Given the description of an element on the screen output the (x, y) to click on. 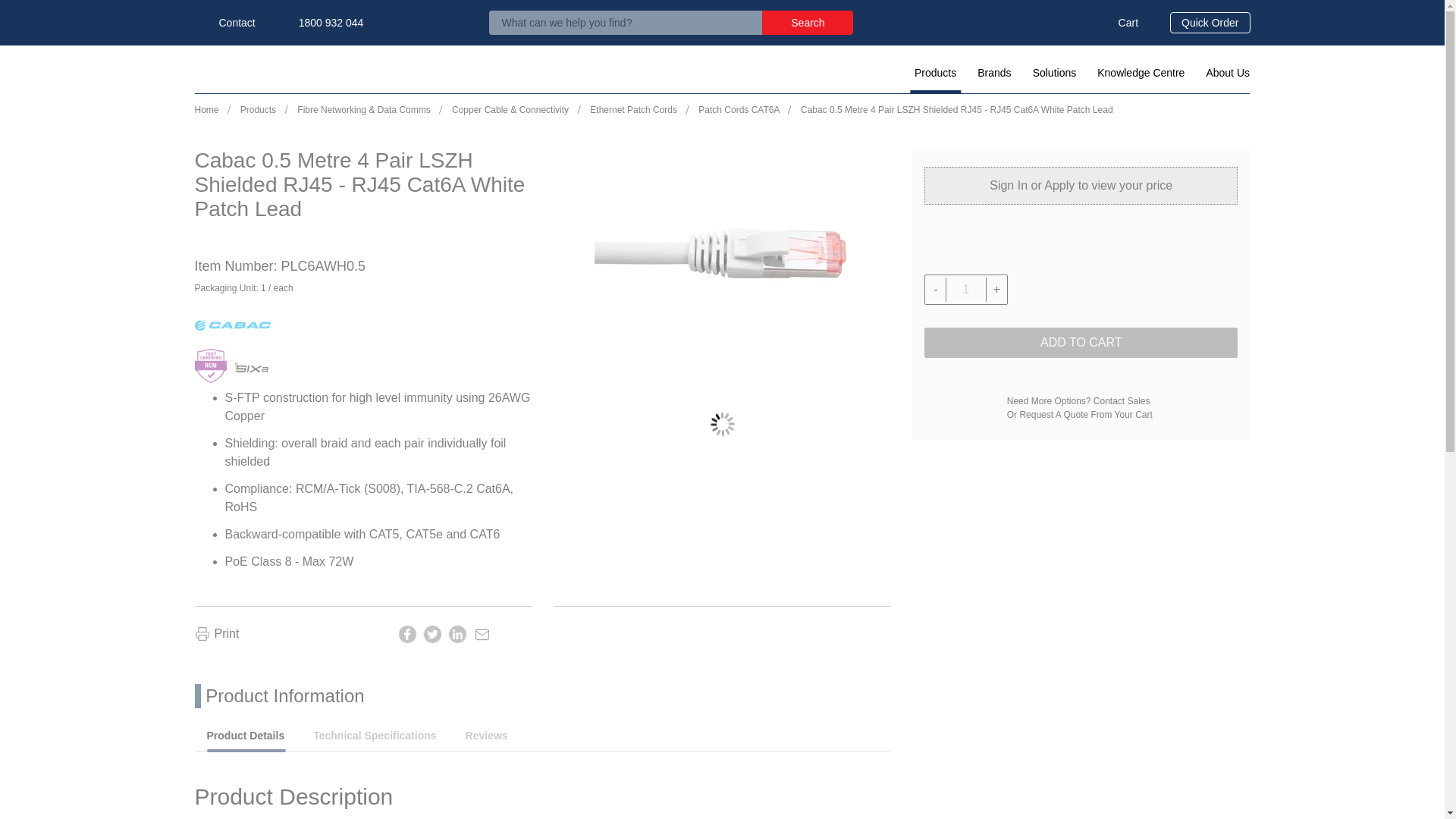
Products (935, 72)
Search (807, 22)
Cart (1116, 22)
ADD TO CART (1080, 342)
Ecco Pacific (243, 69)
Products (935, 72)
1800 932 044 (319, 22)
Brands (993, 72)
Contact (223, 22)
Quick Order (1209, 22)
1 (965, 289)
Search (807, 22)
